Given the description of an element on the screen output the (x, y) to click on. 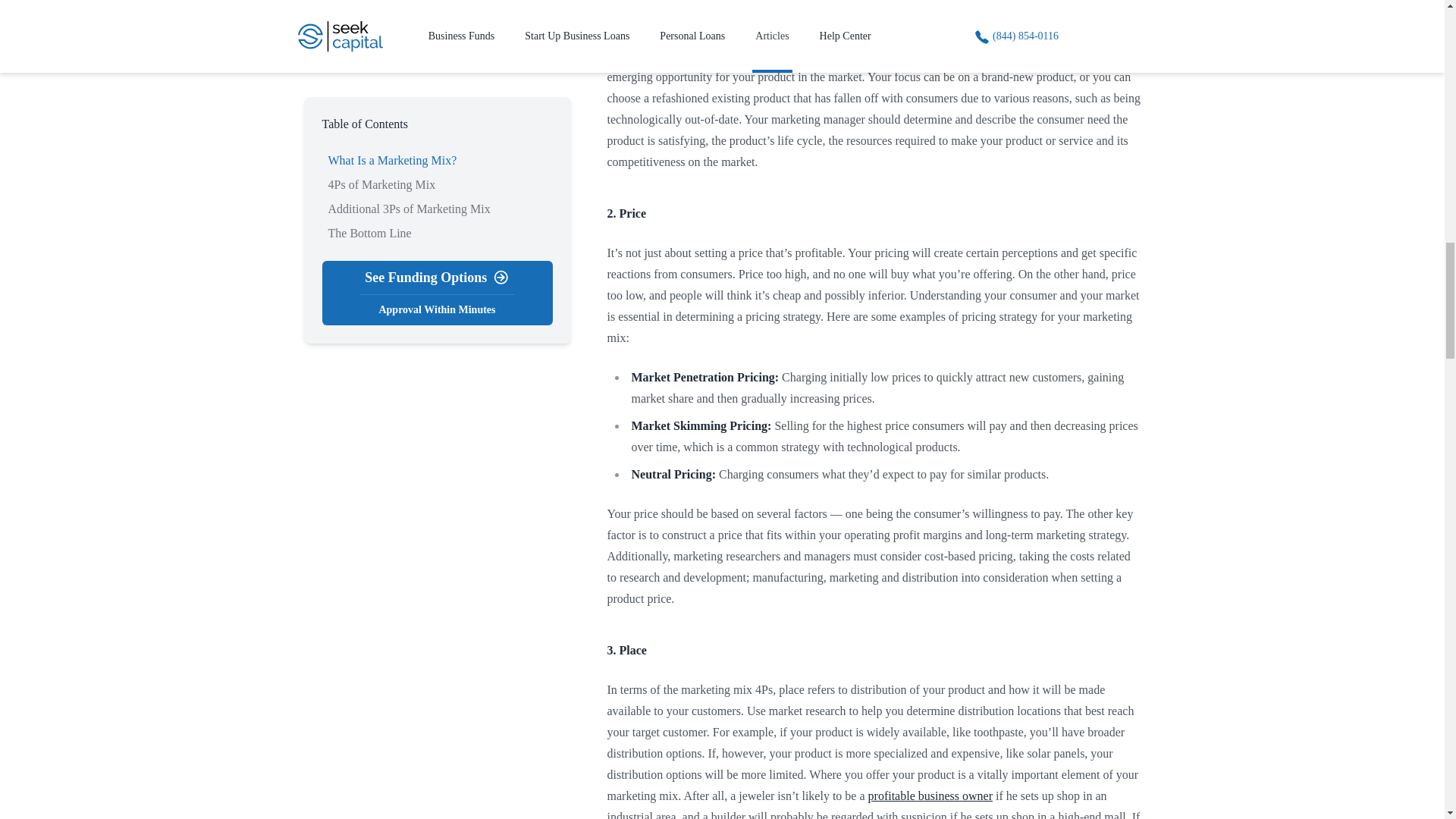
profitable business owner (929, 795)
3. Place (626, 649)
competitive edge (735, 15)
2. Price (626, 213)
